Given the description of an element on the screen output the (x, y) to click on. 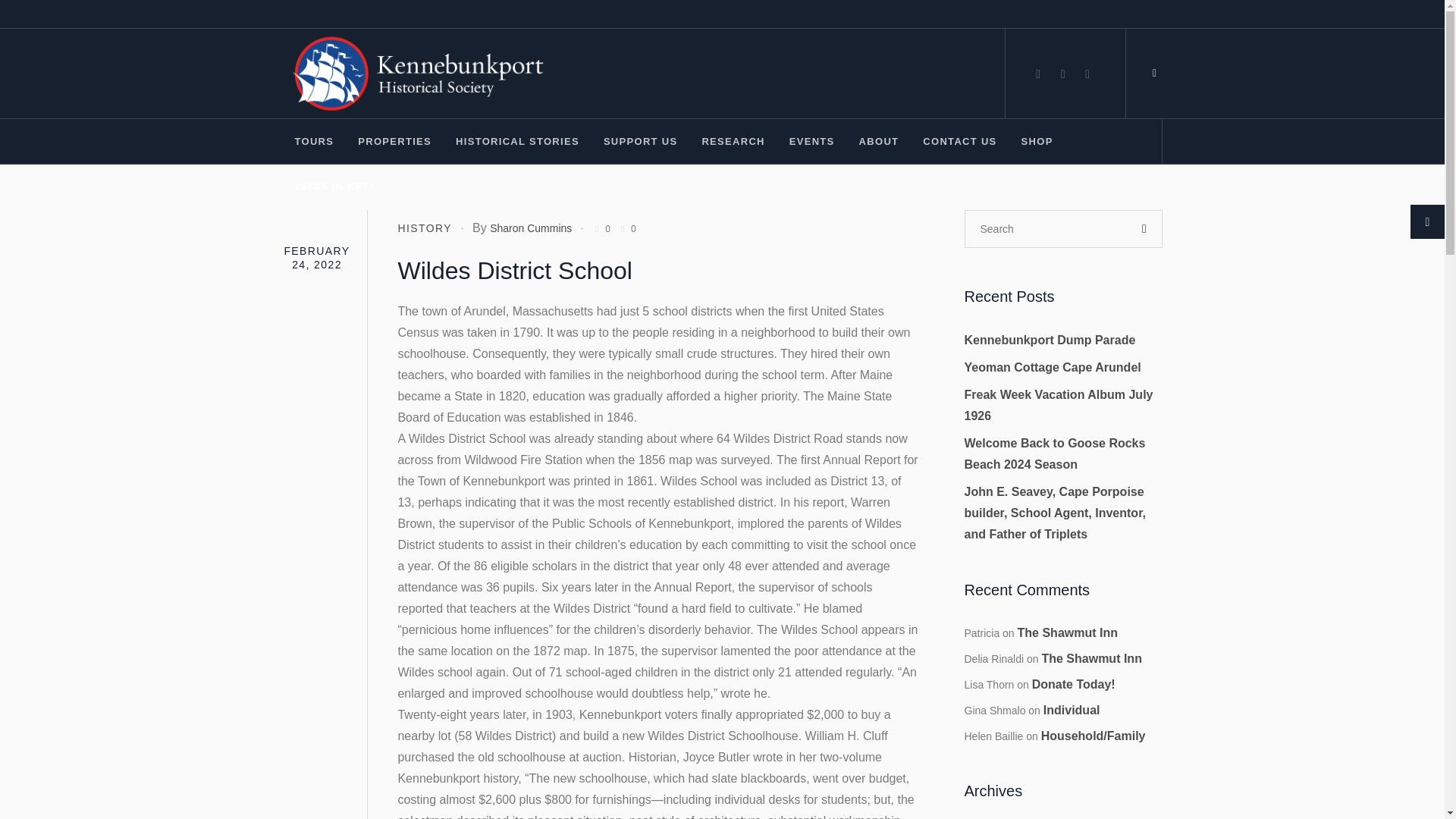
SUPPORT US (639, 140)
TOURS (313, 140)
Twitter (1087, 74)
EVENTS (811, 140)
HISTORICAL STORIES (517, 140)
Facebook (1037, 74)
PROPERTIES (394, 140)
Posts by Sharon Cummins (530, 227)
RESEARCH (732, 140)
Instagram (1062, 74)
